Given the description of an element on the screen output the (x, y) to click on. 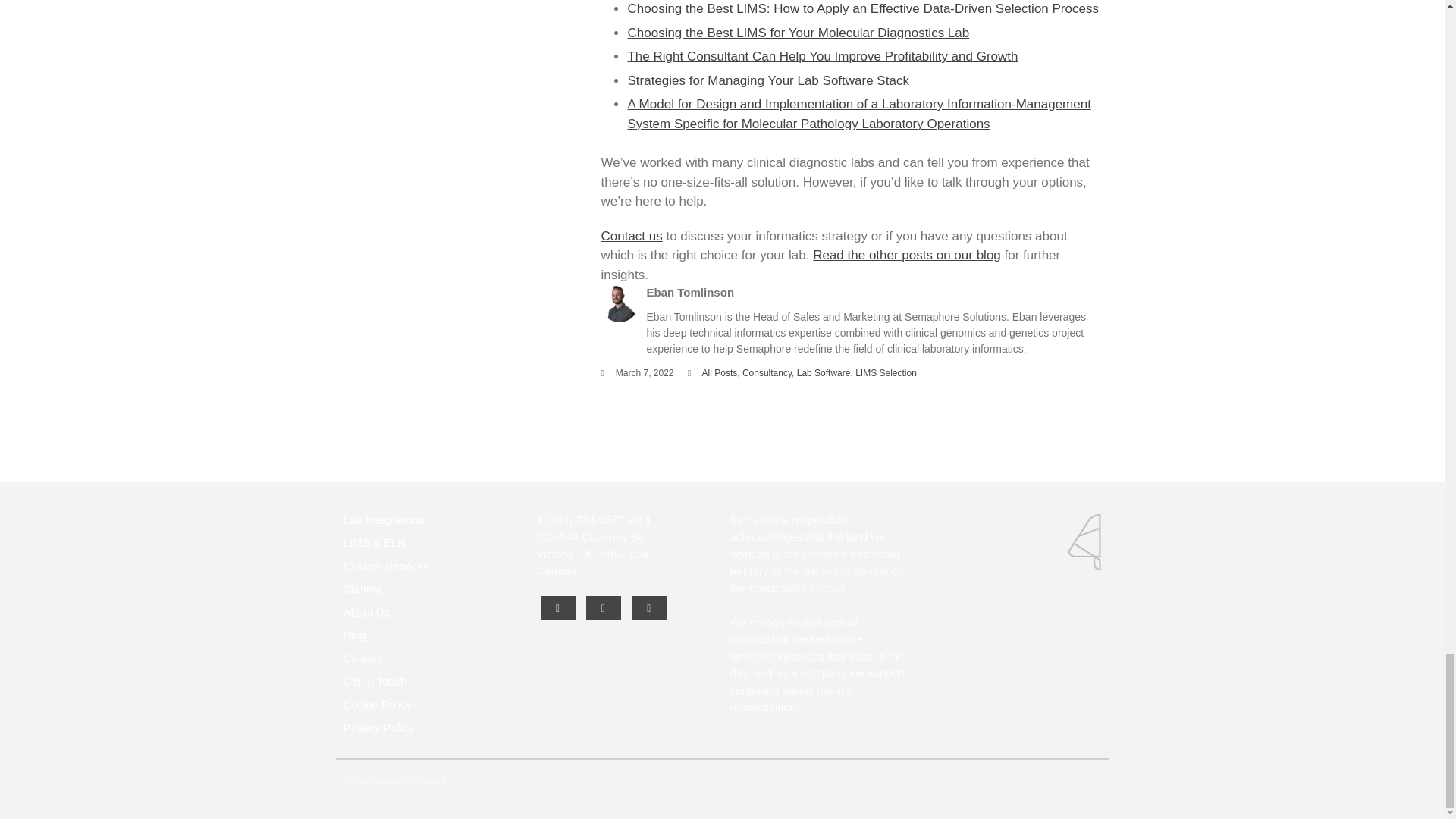
View all posts in LIMS Selection (886, 372)
View all posts in Lab Software (823, 372)
View all posts in Consultancy (767, 372)
View all posts in All Posts (719, 372)
